Given the description of an element on the screen output the (x, y) to click on. 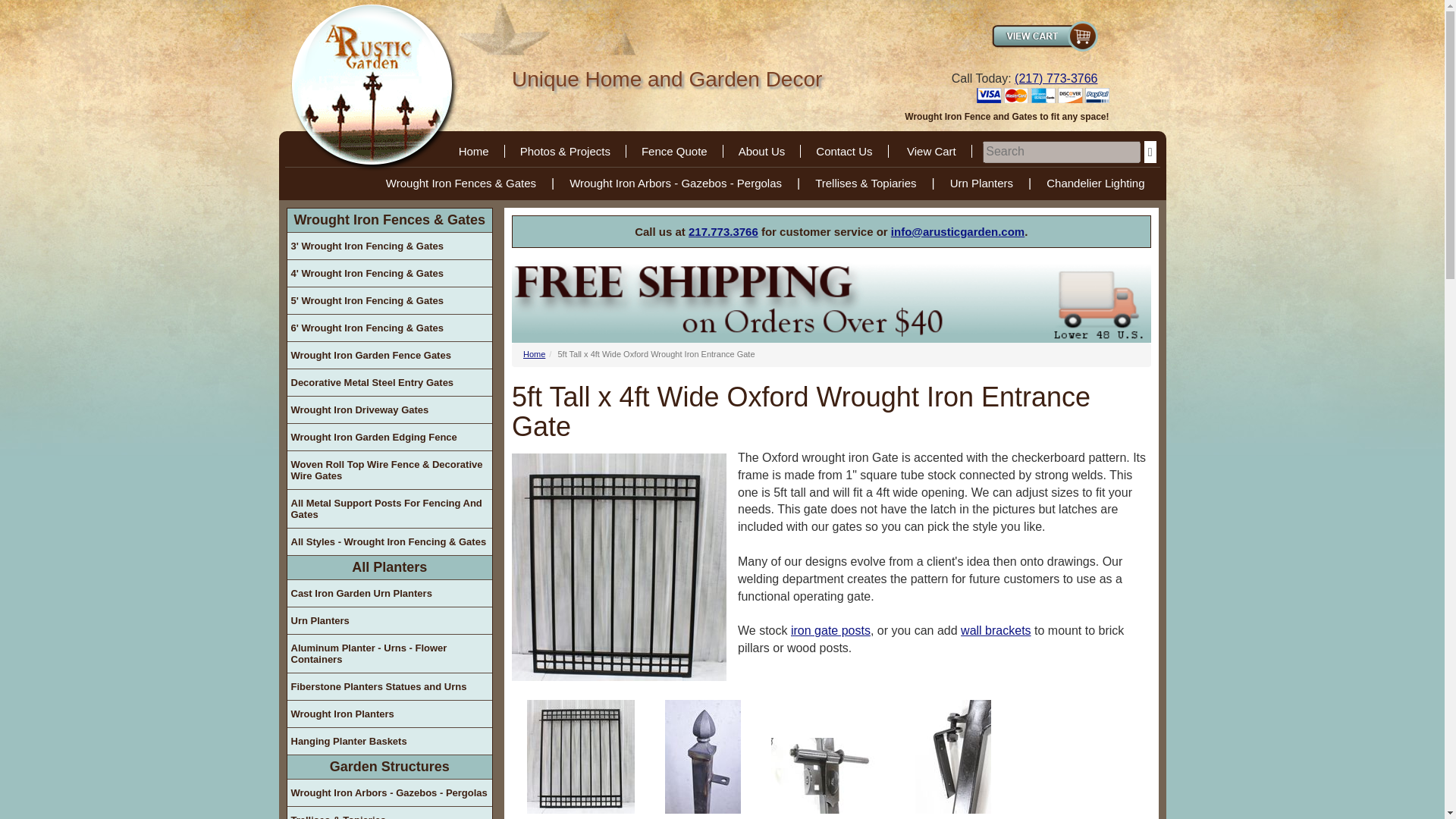
View Cart (931, 151)
All Metal Support Posts For Fencing And Gates (389, 508)
Wrought Iron Arbors - Gazebos - Pergolas (675, 182)
Urn Planters (980, 182)
Wrought Iron Garden Fence Gates (389, 355)
Cast Iron Garden Urn Planters (389, 592)
Urn Planters (389, 620)
Fence Quote (674, 151)
5ft Tall x 4ft Wide Oxford Wrought Iron Entrance Gate (828, 775)
About Us (762, 151)
